Given the description of an element on the screen output the (x, y) to click on. 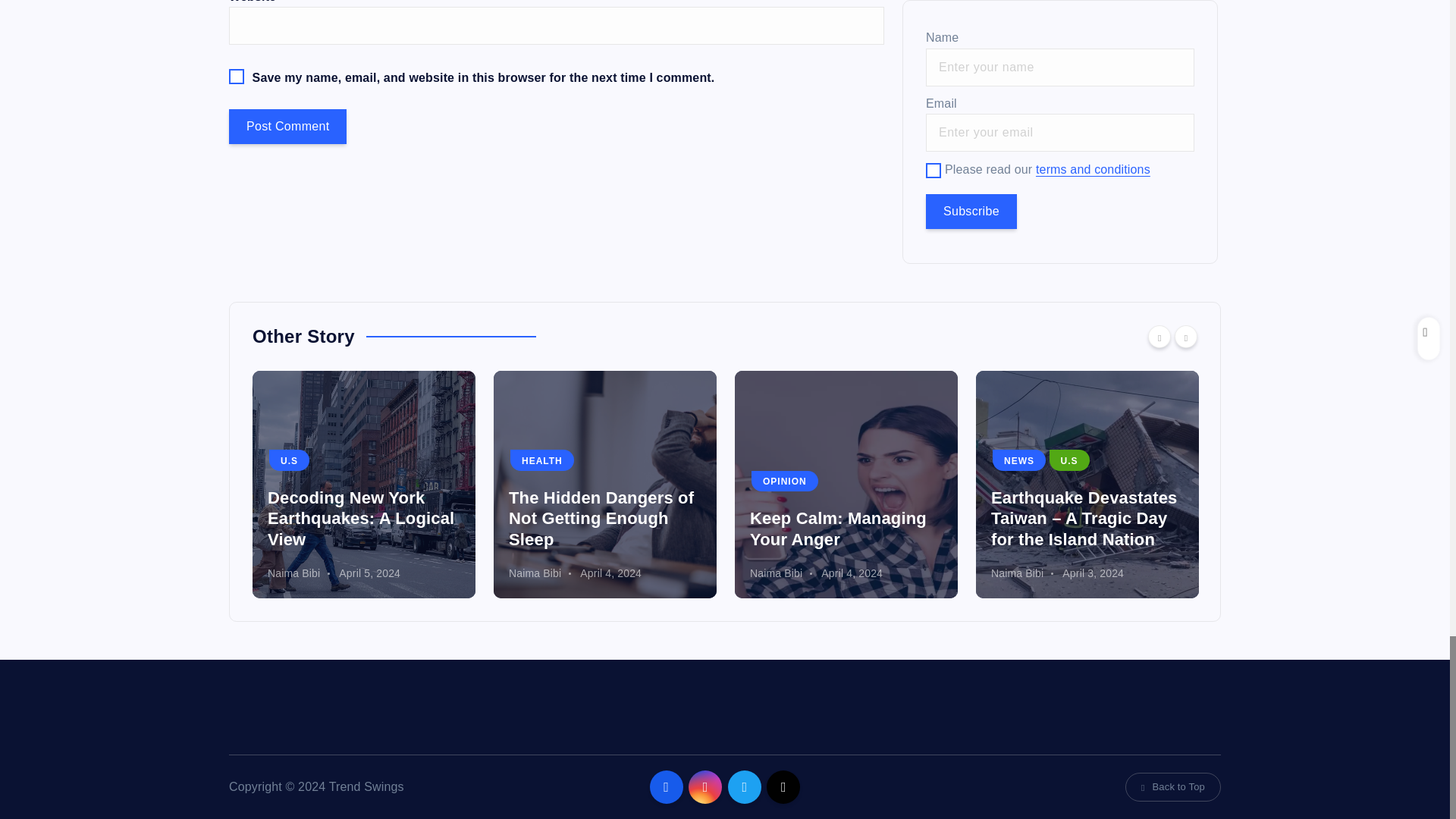
Post Comment (287, 126)
true (933, 170)
yes (236, 76)
Subscribe (971, 211)
